Given the description of an element on the screen output the (x, y) to click on. 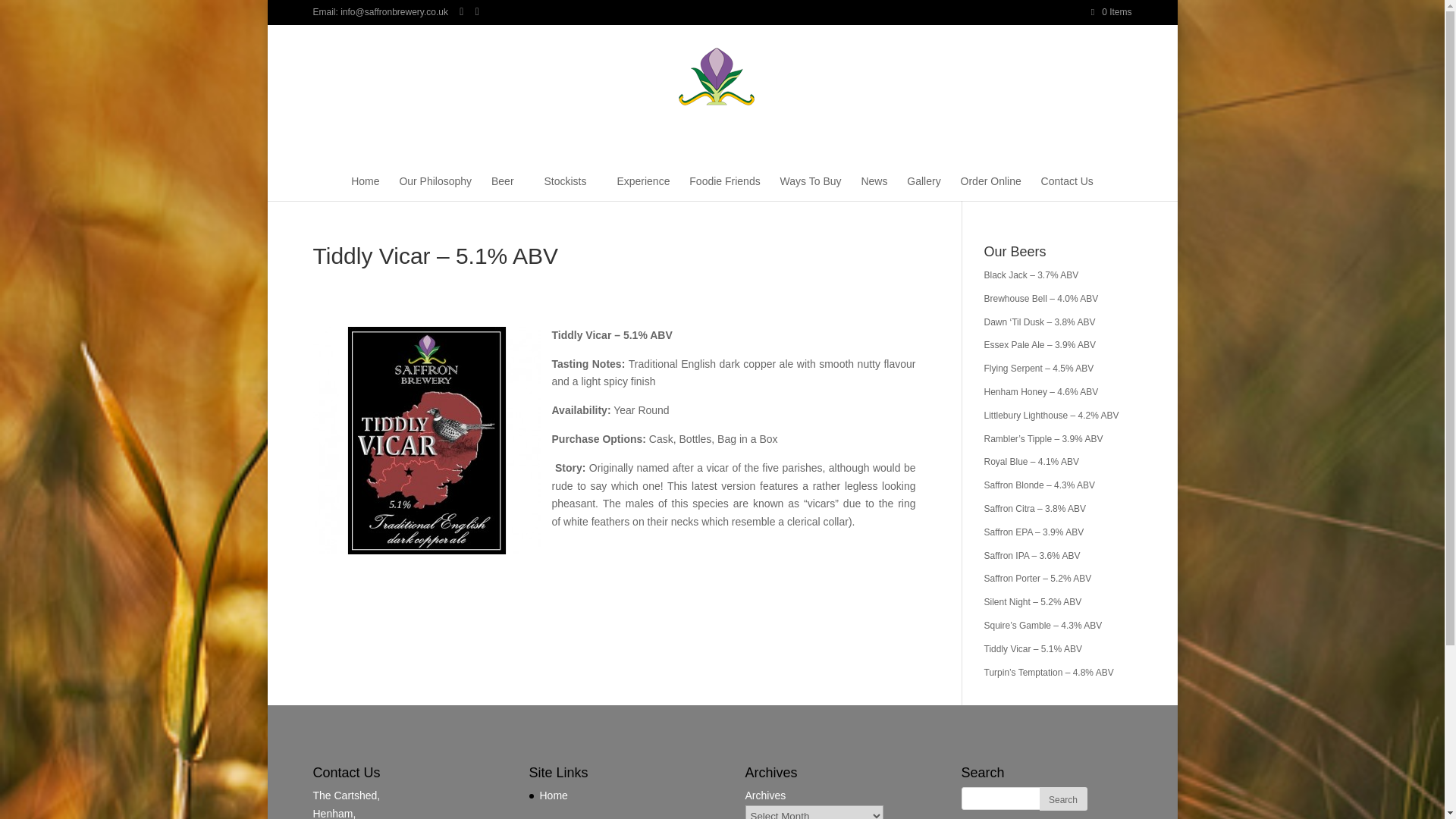
Our Philosophy (434, 186)
Home (364, 186)
Gallery (923, 186)
0 Items (1111, 11)
Beer (508, 186)
Stockists (569, 186)
Experience (642, 186)
Foodie Friends (724, 186)
Contact Us (1067, 186)
Ways To Buy (810, 186)
Order Online (991, 186)
Search (1062, 798)
News (873, 186)
